Given the description of an element on the screen output the (x, y) to click on. 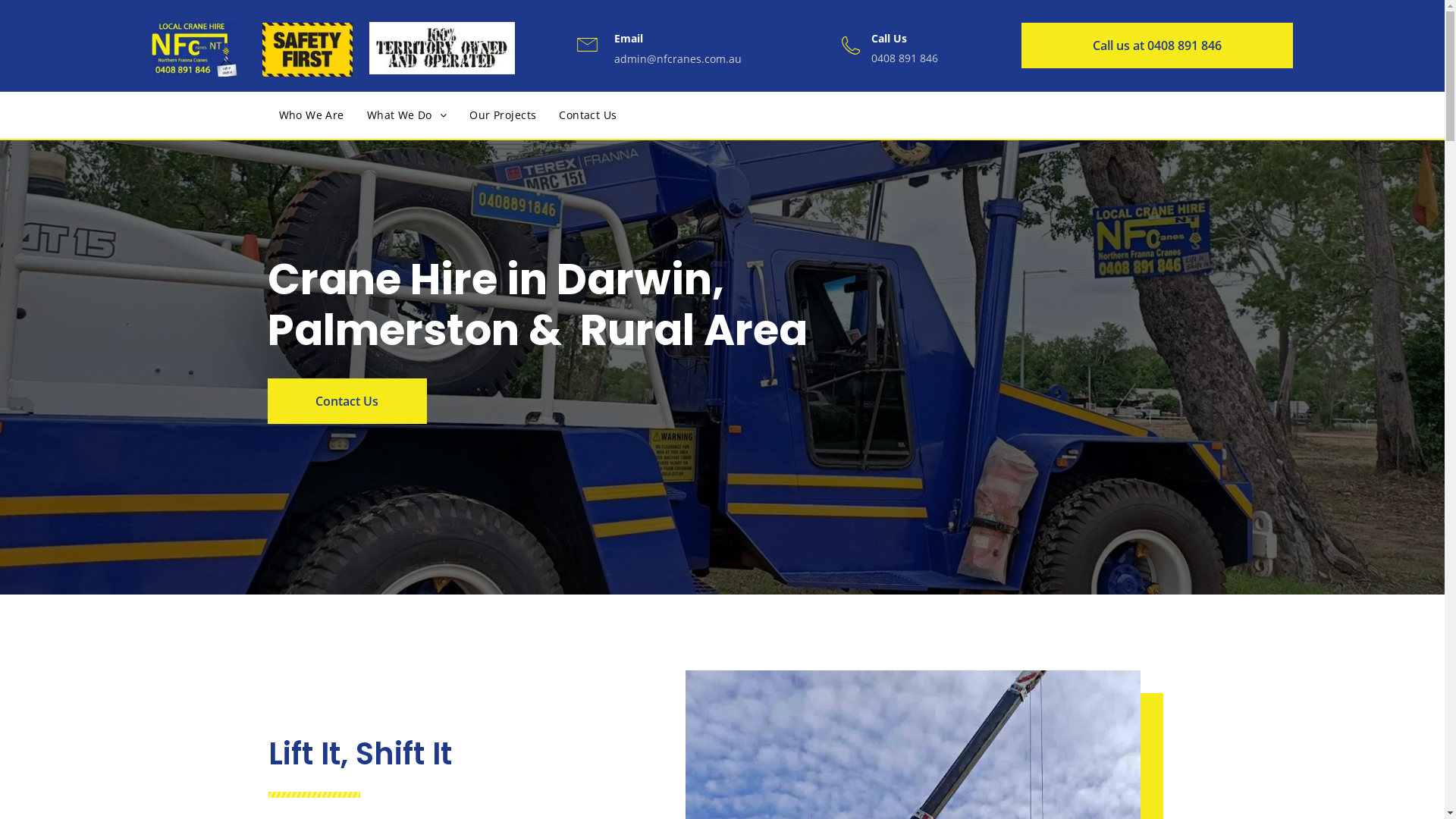
What We Do Element type: text (406, 115)
Safety First Element type: hover (307, 49)
Contact Us Element type: text (587, 115)
admin@nfcranes.com.au Element type: text (677, 58)
Our Projects Element type: text (502, 115)
Contact Us Element type: text (346, 400)
0408 891 846 Element type: text (904, 57)
Who We Are Element type: text (310, 115)
Crane Hire in Darwin Element type: hover (194, 48)
100% Territory Owned And Operated Element type: hover (441, 47)
Call us at 0408 891 846 Element type: text (1156, 45)
